Given the description of an element on the screen output the (x, y) to click on. 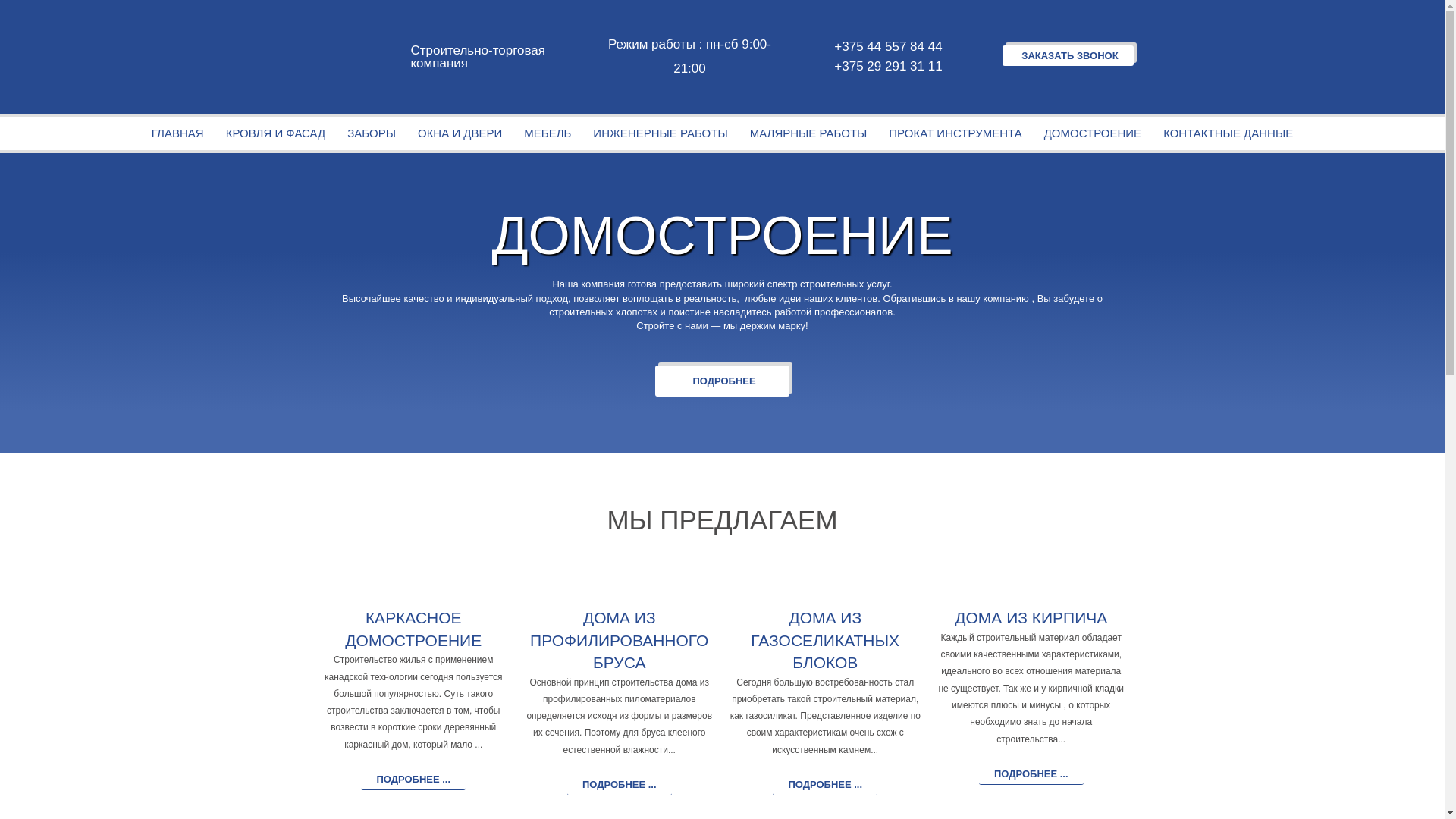
+375 44 557 84 44 Element type: text (885, 46)
+375 29 291 31 11 Element type: text (885, 66)
